Given the description of an element on the screen output the (x, y) to click on. 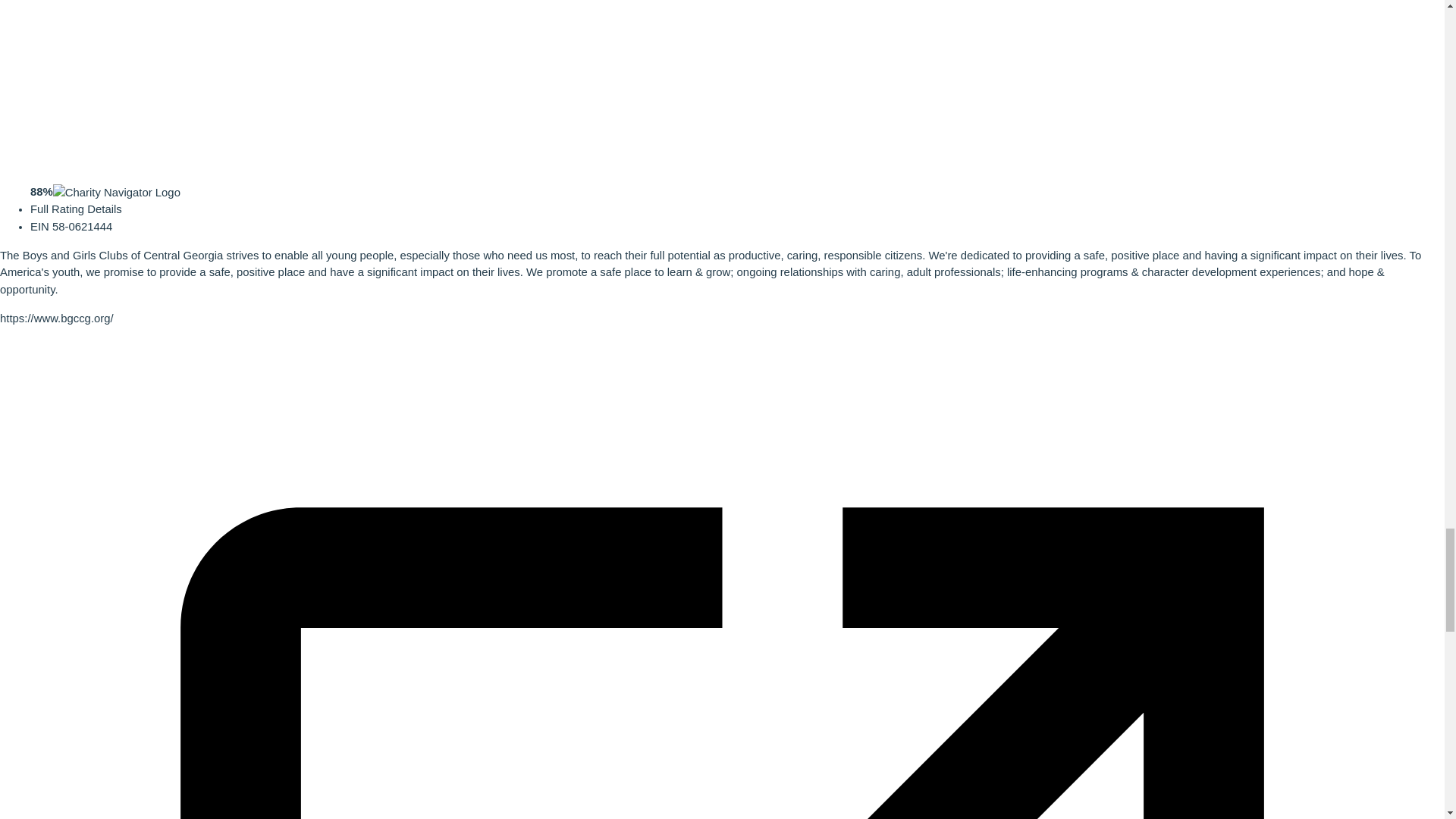
Full Rating Details (76, 209)
